Given the description of an element on the screen output the (x, y) to click on. 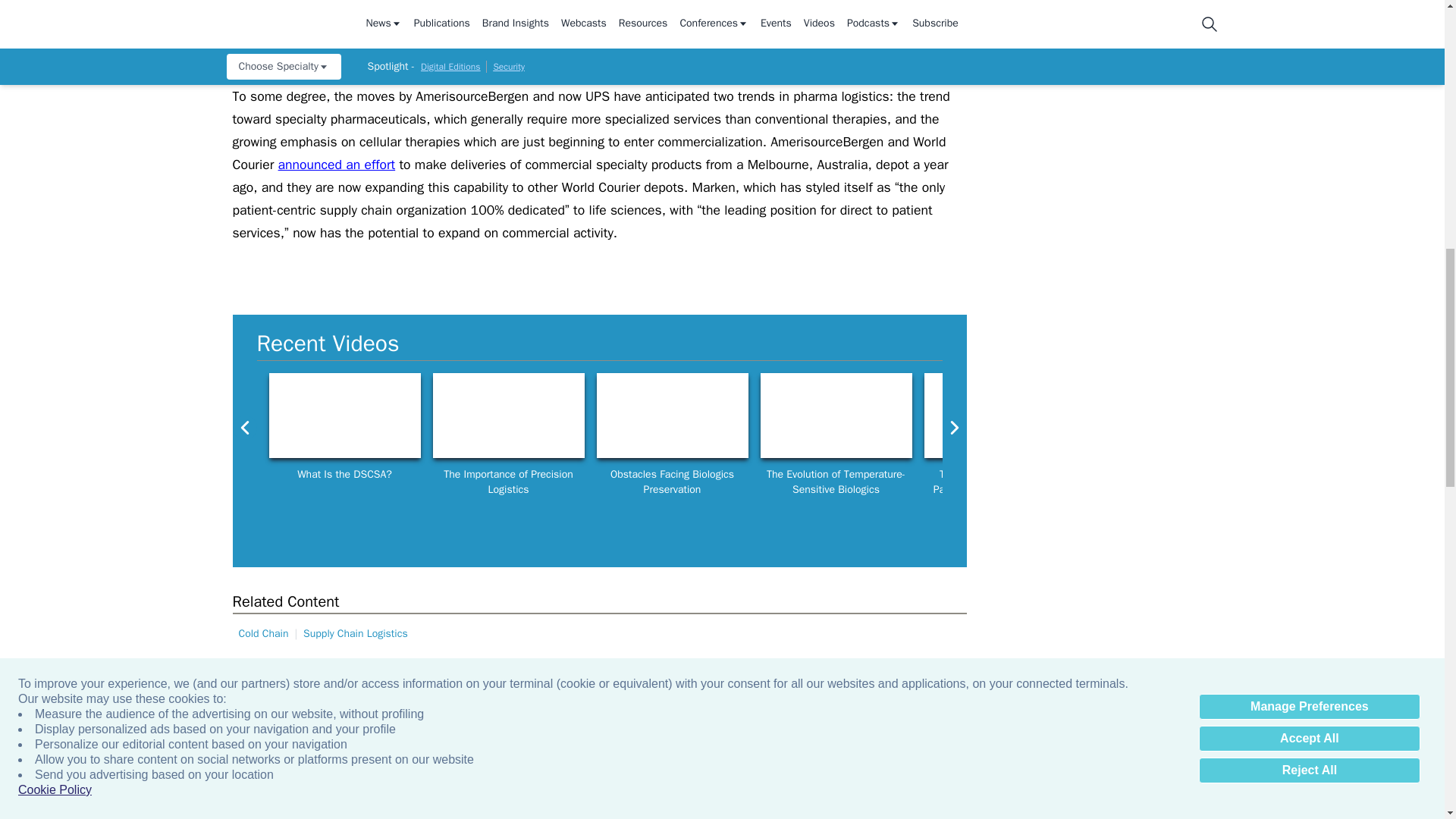
The Evolution of Temperature-Sensitive Biologics (835, 415)
The Current Landscape of Drug Shortages (1163, 415)
What Is the DSCSA? (343, 415)
Obstacles Facing Biologics Preservation (671, 415)
The Relationship Between Patients and Drug Shortages  (999, 415)
The Importance of Precision Logistics (507, 415)
